Given the description of an element on the screen output the (x, y) to click on. 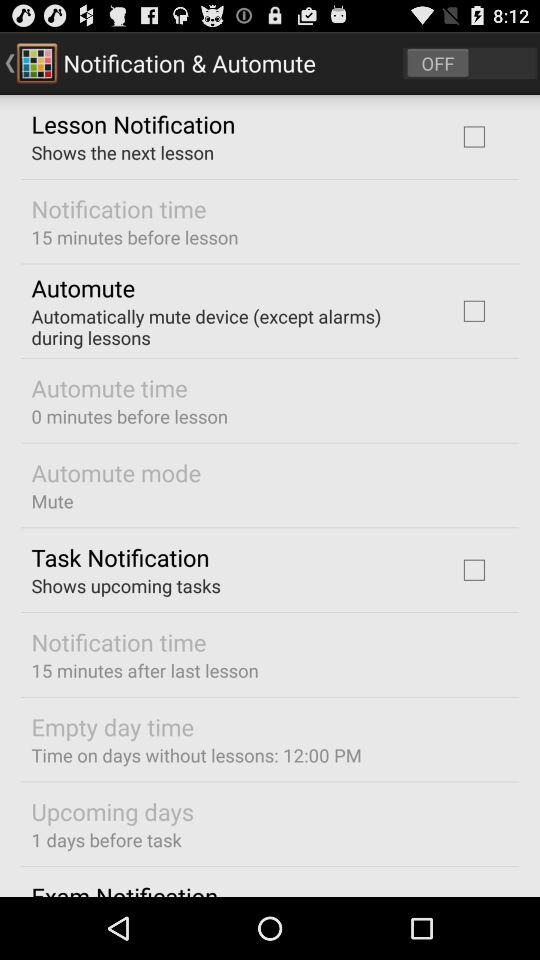
turn on the icon below mute (120, 557)
